Given the description of an element on the screen output the (x, y) to click on. 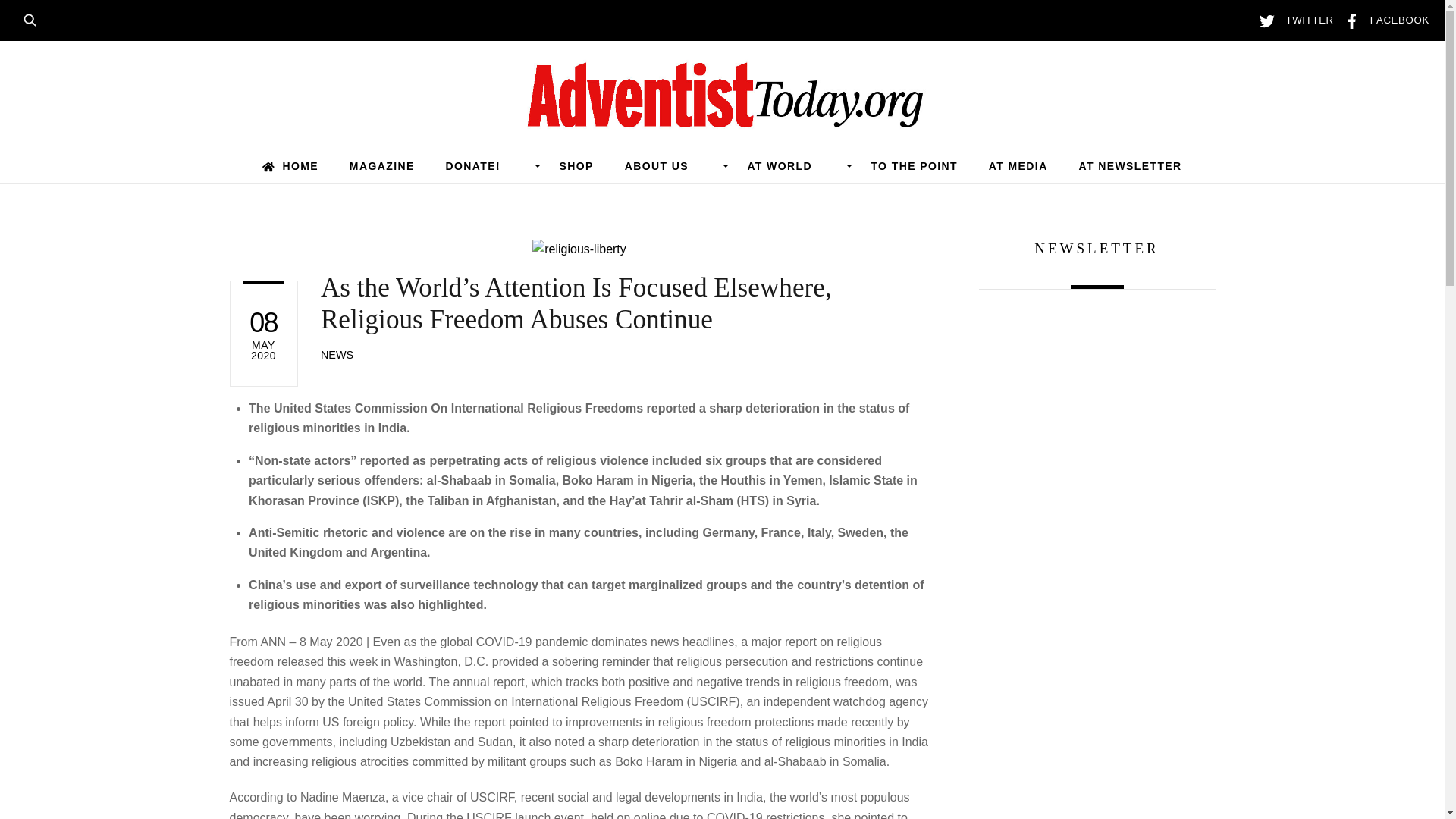
DONATE! (486, 165)
FACEBOOK (1382, 19)
MAGAZINE (381, 165)
Adventist Today (722, 119)
TO THE POINT (913, 165)
Search (35, 18)
religious-liberty (579, 249)
ABOUT US (669, 165)
NEWS (336, 354)
HOME (290, 165)
